Given the description of an element on the screen output the (x, y) to click on. 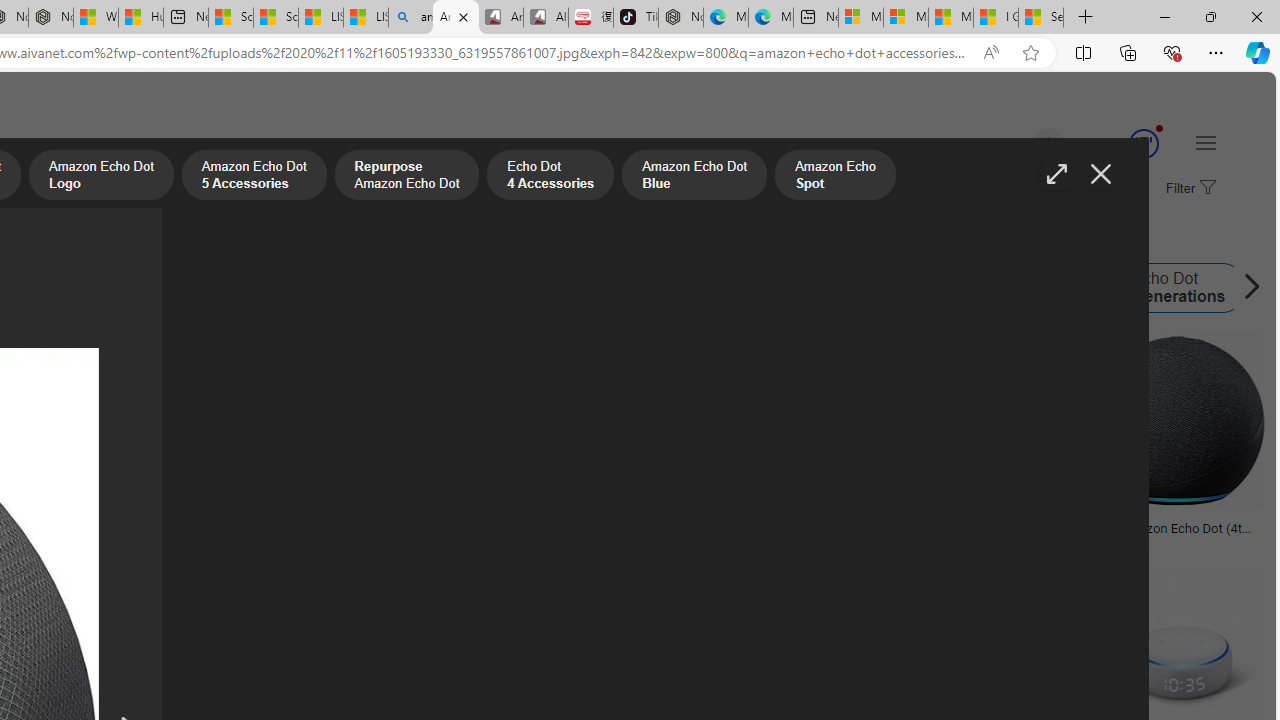
pnghq.com (49, 541)
pixabay.com (776, 542)
Amazon Echo Dot Logo (390, 287)
Amazon Echo Dot 4th Gen (179, 287)
Full screen (1055, 173)
pngkey.com (544, 541)
tpsearchtool.com (976, 542)
